Given the description of an element on the screen output the (x, y) to click on. 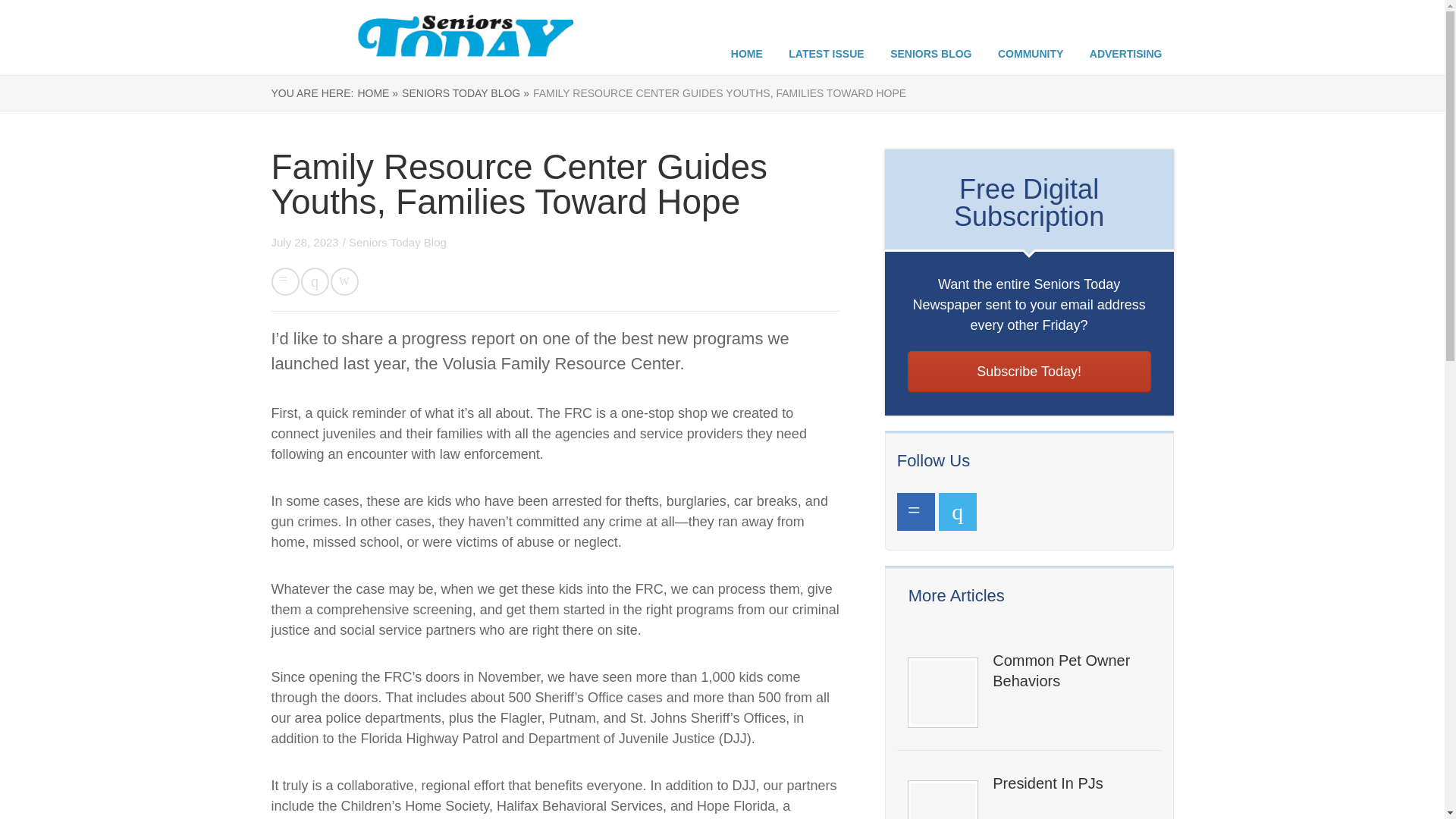
Subscribe Today! (1029, 372)
Common Pet Owner Behaviors (1071, 670)
COMMUNITY (1029, 53)
ADVERTISING (1125, 53)
SENIORS BLOG (930, 53)
President In PJs (1071, 783)
LATEST ISSUE (826, 53)
HOME (746, 53)
Seniors Today Blog (397, 241)
